Given the description of an element on the screen output the (x, y) to click on. 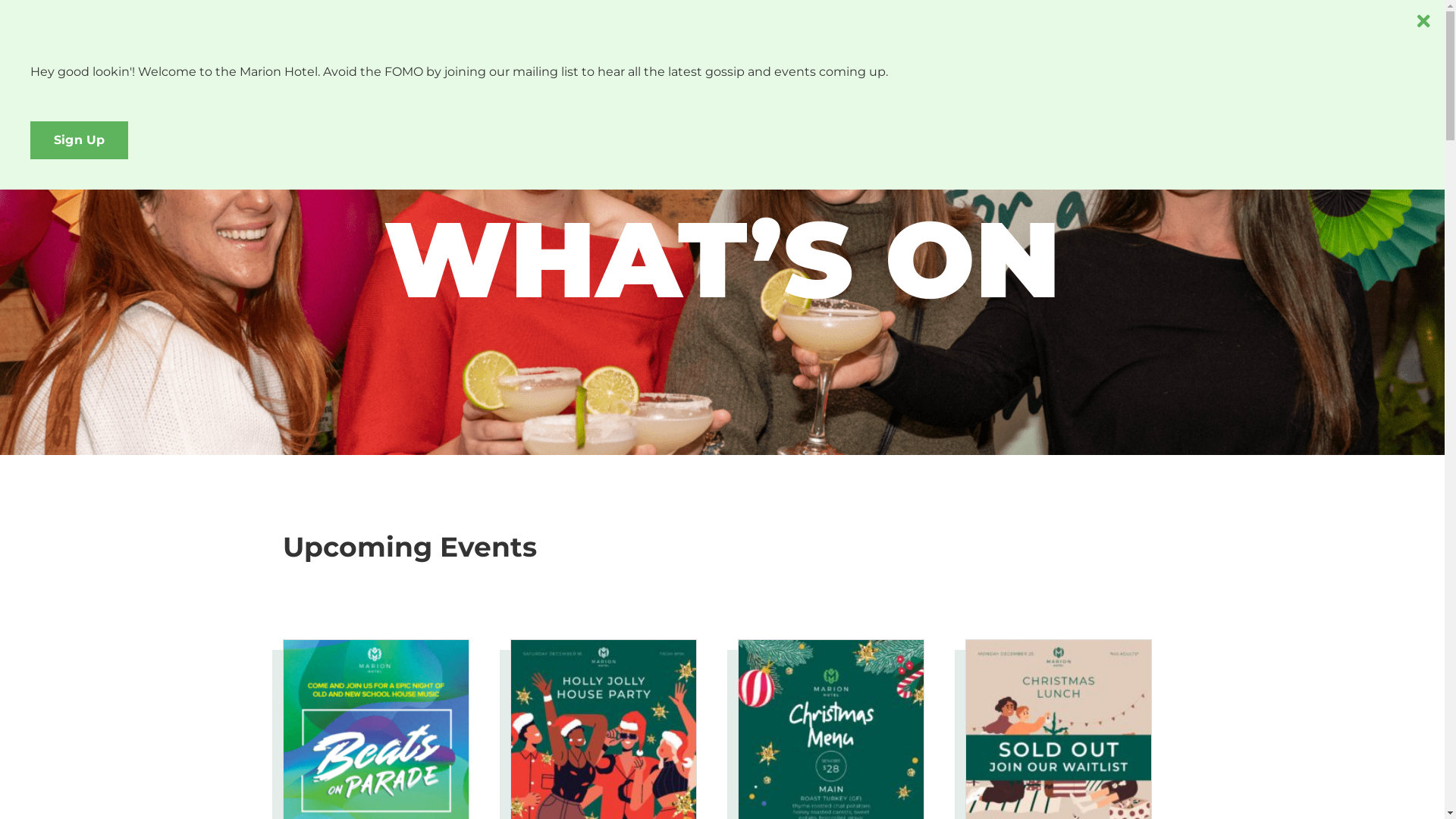
MENU Element type: text (59, 37)
BOOK NOW Element type: text (1368, 37)
Sign Up Element type: text (79, 140)
